Given the description of an element on the screen output the (x, y) to click on. 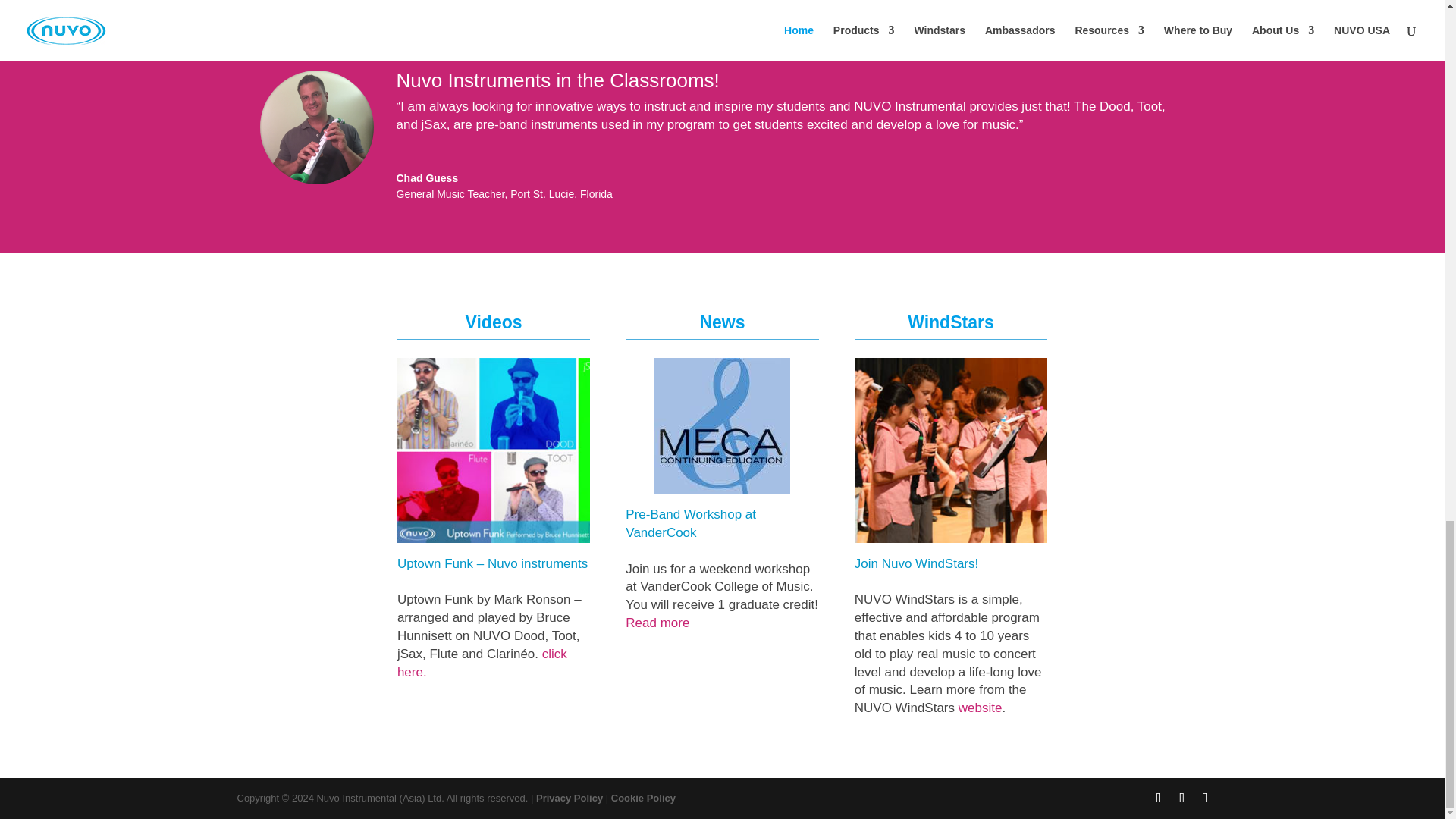
MECA logo (721, 425)
